Given the description of an element on the screen output the (x, y) to click on. 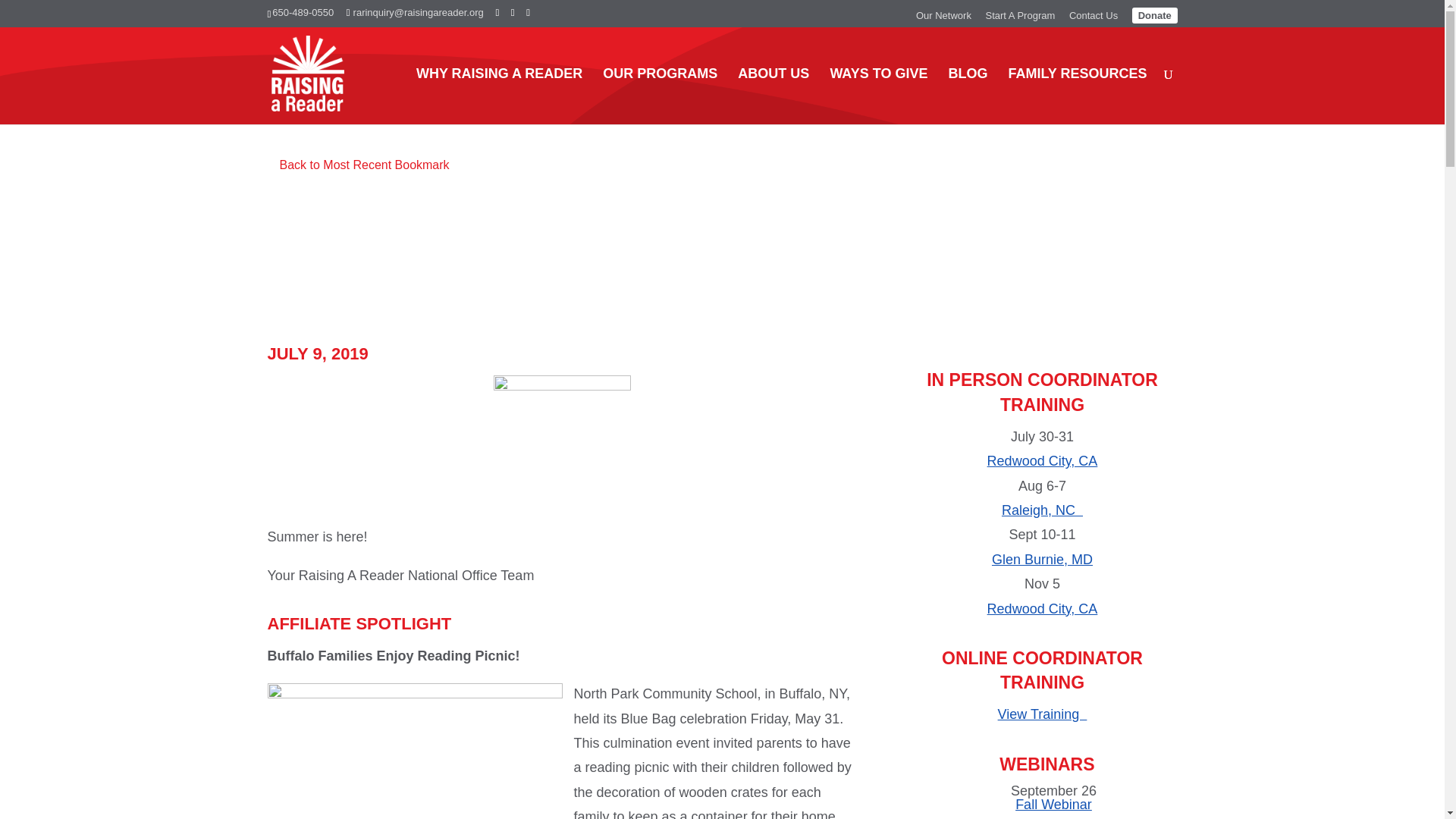
Start A Program (1020, 18)
Back to Most Recent Bookmark (357, 164)
Donate (1154, 15)
ABOUT US (773, 95)
Our Network (943, 18)
WHY RAISING A READER (499, 95)
WAYS TO GIVE (878, 95)
FAMILY RESOURCES (1077, 95)
OUR PROGRAMS (659, 95)
BLOG (967, 95)
Contact Us (1093, 18)
